Given the description of an element on the screen output the (x, y) to click on. 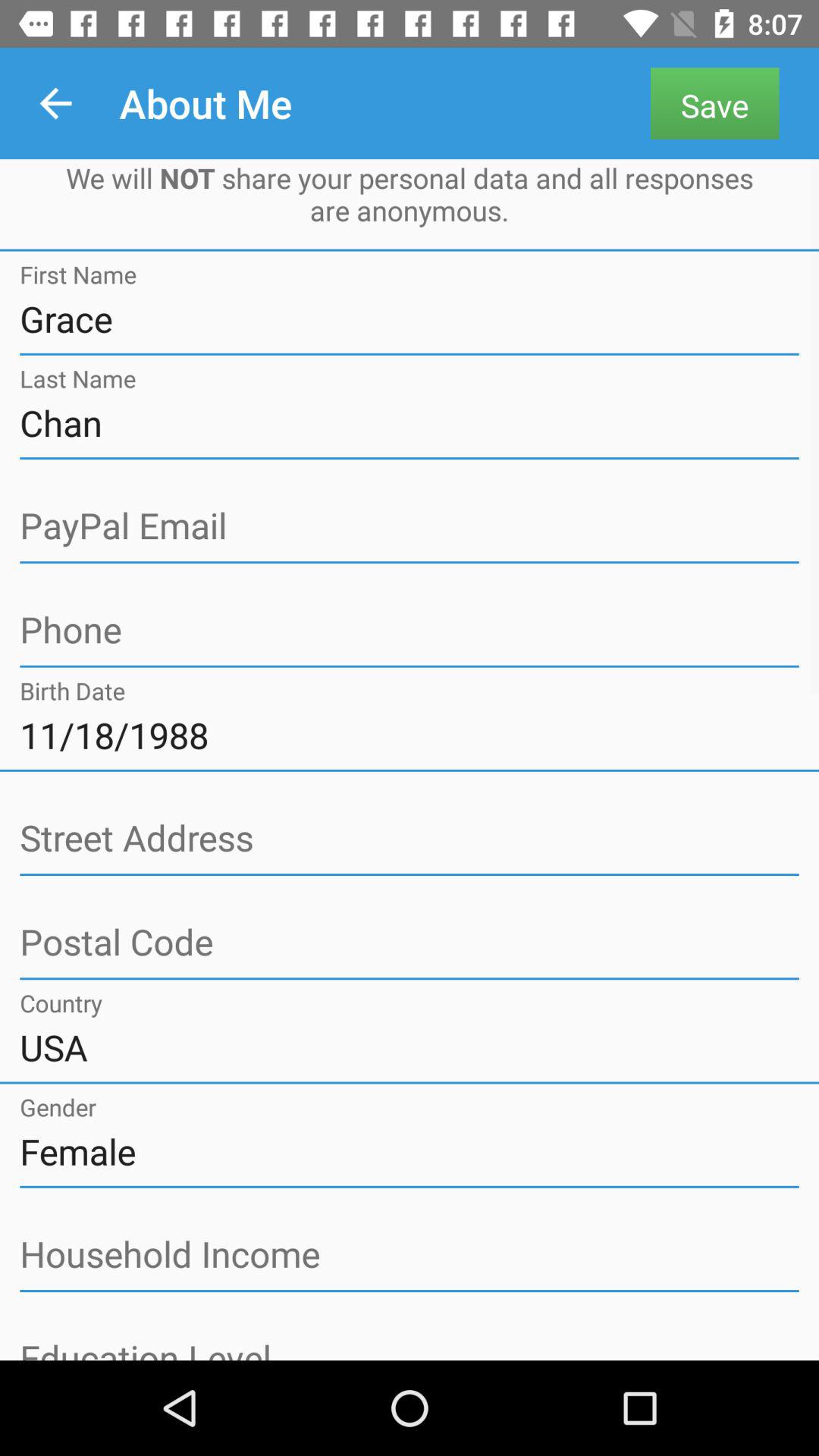
enter education level (409, 1347)
